Given the description of an element on the screen output the (x, y) to click on. 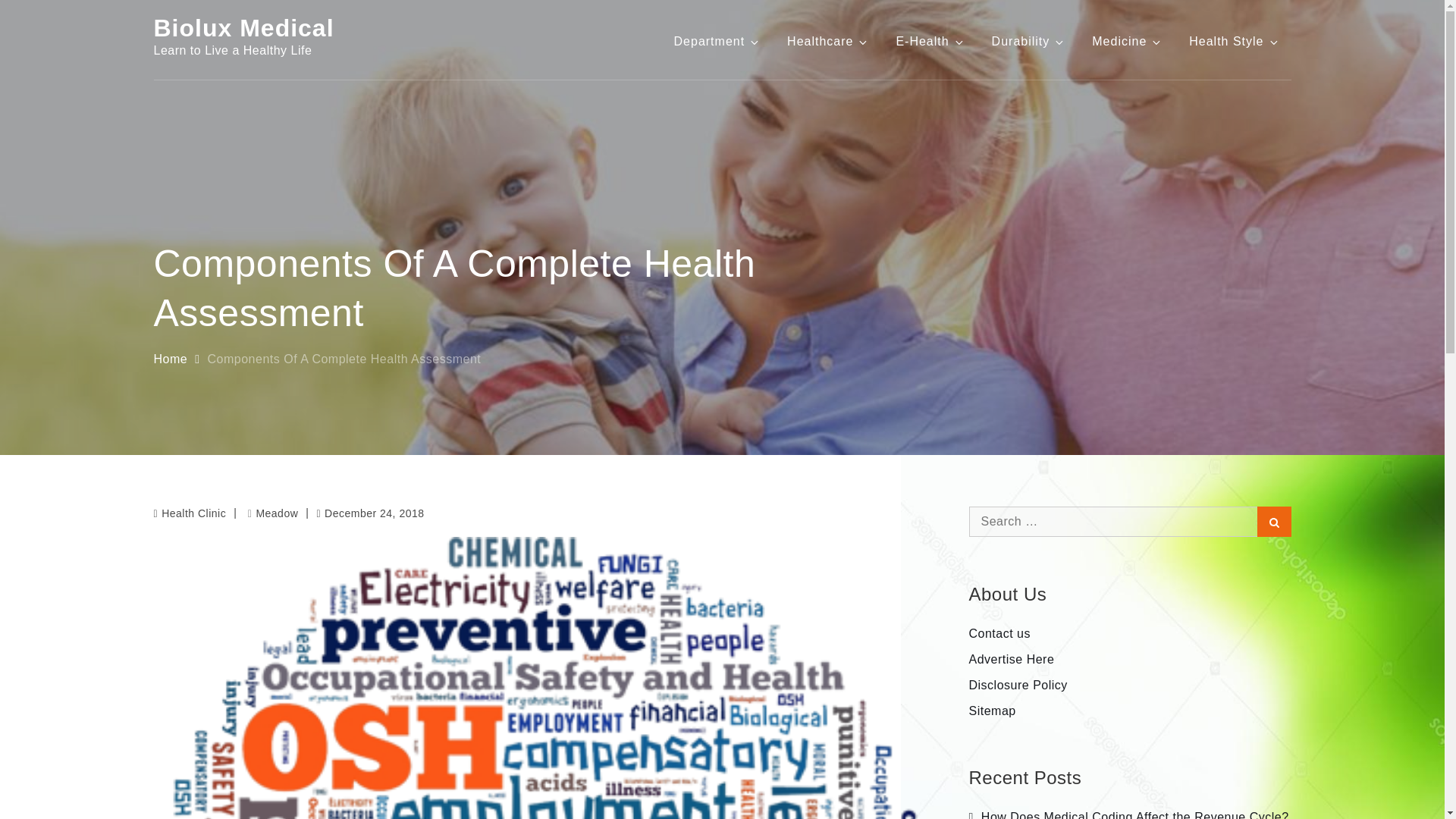
December 24, 2018 (369, 513)
Medicine (1126, 41)
E-Health (929, 41)
Home (169, 358)
Health Clinic (193, 512)
Durability (1028, 41)
Healthcare (828, 41)
Biolux Medical (242, 27)
Department (717, 41)
Health Style (1233, 41)
Meadow (272, 512)
